Given the description of an element on the screen output the (x, y) to click on. 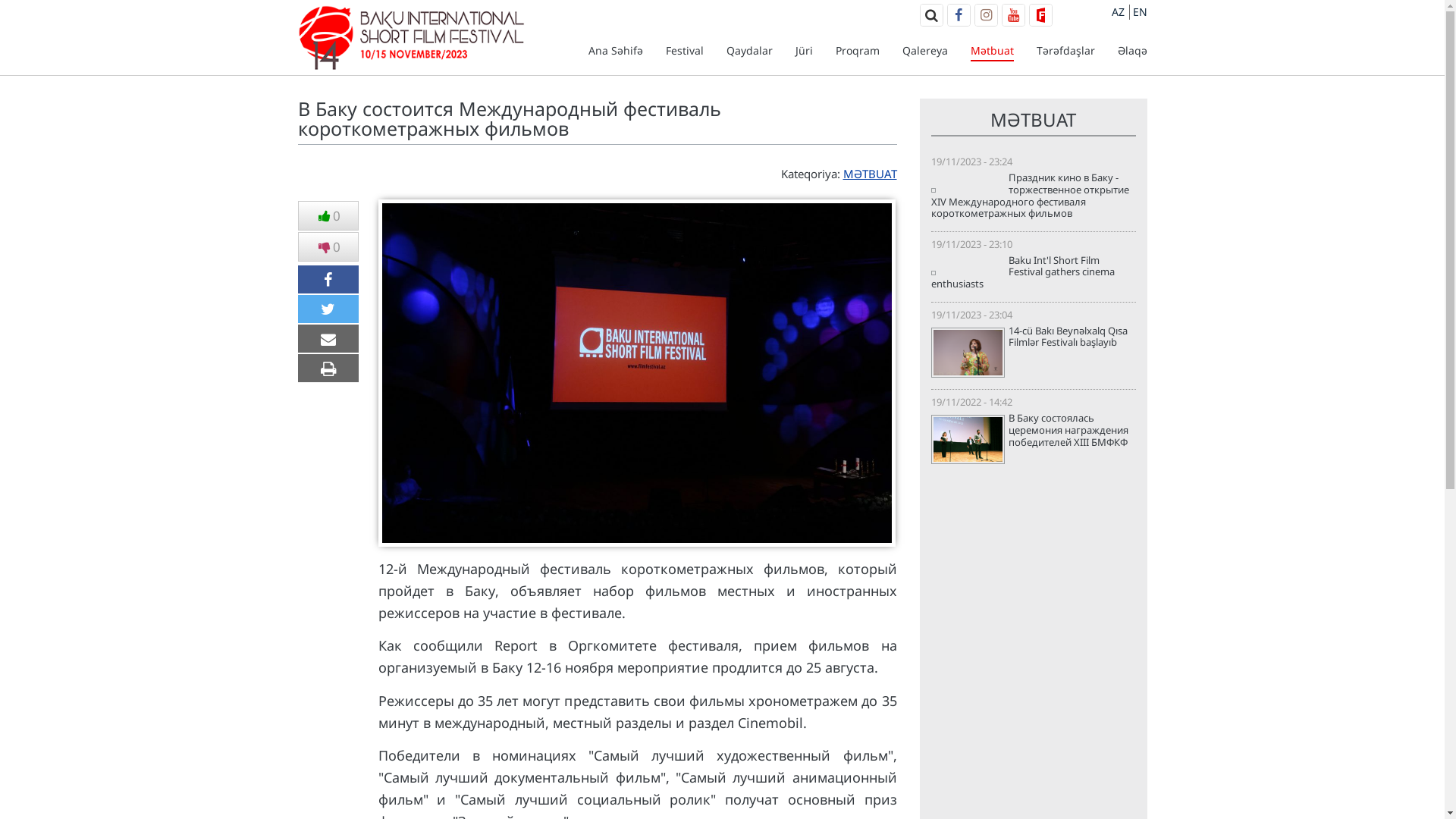
Youtube Element type: hover (1013, 14)
Print Element type: hover (327, 367)
Qaydalar Element type: text (749, 49)
Facebook Element type: hover (958, 14)
AZ Element type: text (1117, 11)
EN Element type: text (1139, 11)
Proqram Element type: text (857, 49)
Festival Element type: text (684, 49)
Search Element type: hover (931, 14)
Qalereya Element type: text (924, 49)
Filmfreeway Element type: hover (1040, 14)
Baku Int'l Short Film Festival gathers cinema enthusiasts Element type: text (1033, 272)
Instagram Element type: hover (986, 14)
14.Baku International Short Film Festival Element type: hover (410, 59)
